Given the description of an element on the screen output the (x, y) to click on. 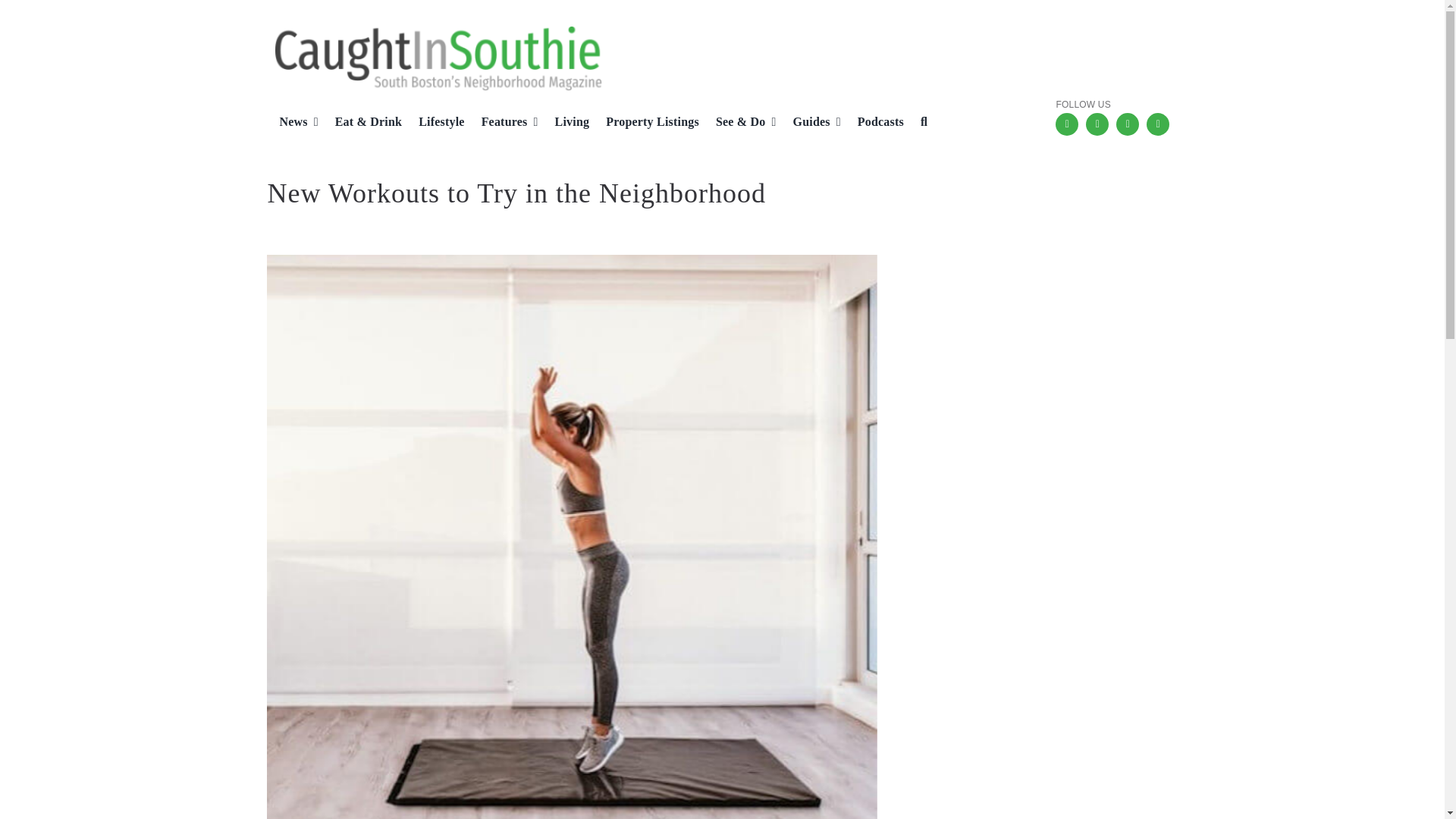
Property Listings (646, 122)
News (291, 122)
Podcasts (874, 122)
Guides (810, 122)
Instagram (1097, 124)
Living (566, 122)
Twitter (1127, 124)
Spotify (1158, 124)
Lifestyle (435, 122)
Facebook (1066, 124)
